Given the description of an element on the screen output the (x, y) to click on. 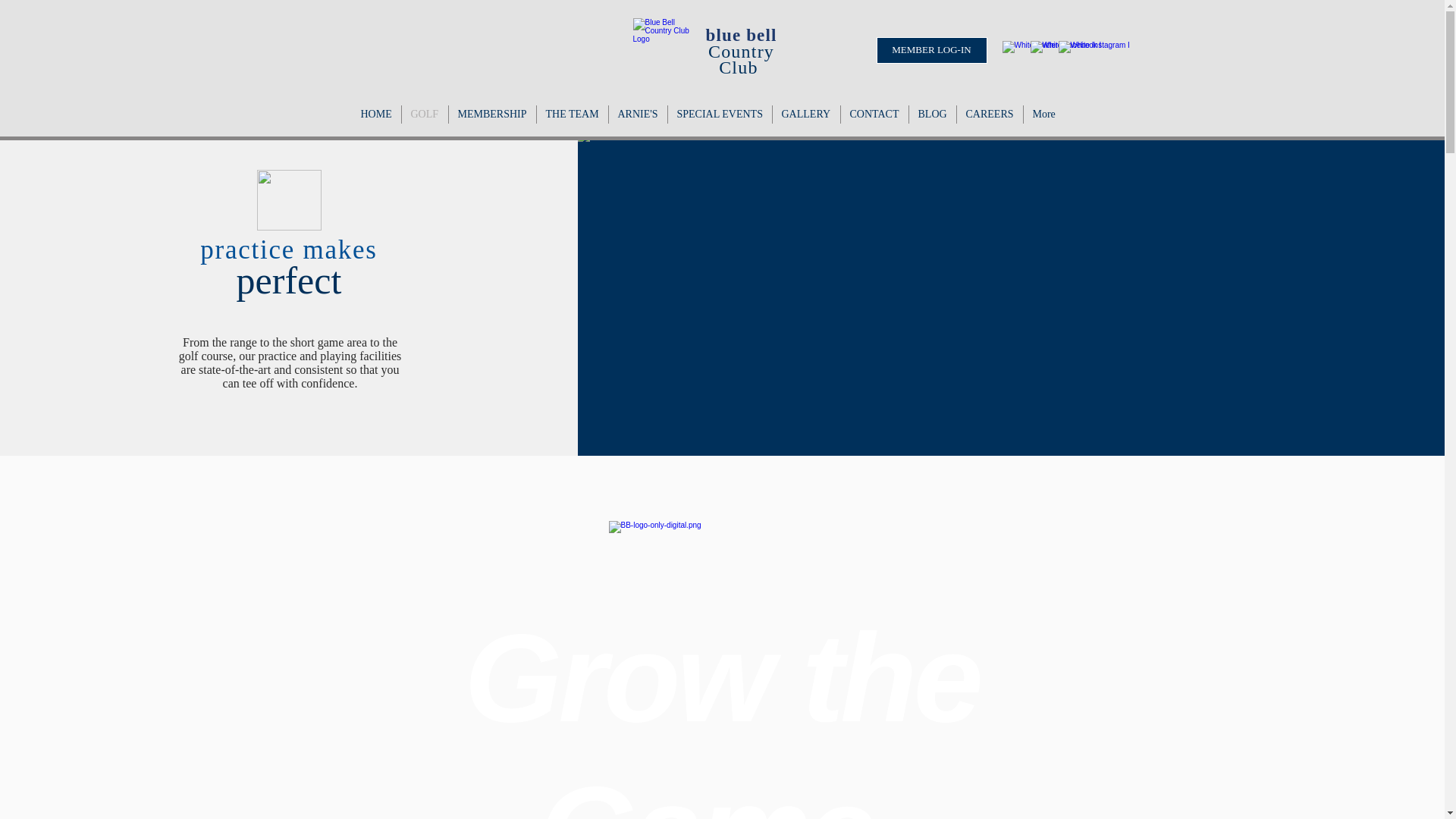
CAREERS (989, 114)
GALLERY (805, 114)
ARNIE'S (637, 114)
SPECIAL EVENTS (718, 114)
MEMBERSHIP (491, 114)
BLOG (931, 114)
HOME (376, 114)
GOLF (424, 114)
THE TEAM (572, 114)
CONTACT (873, 114)
